Given the description of an element on the screen output the (x, y) to click on. 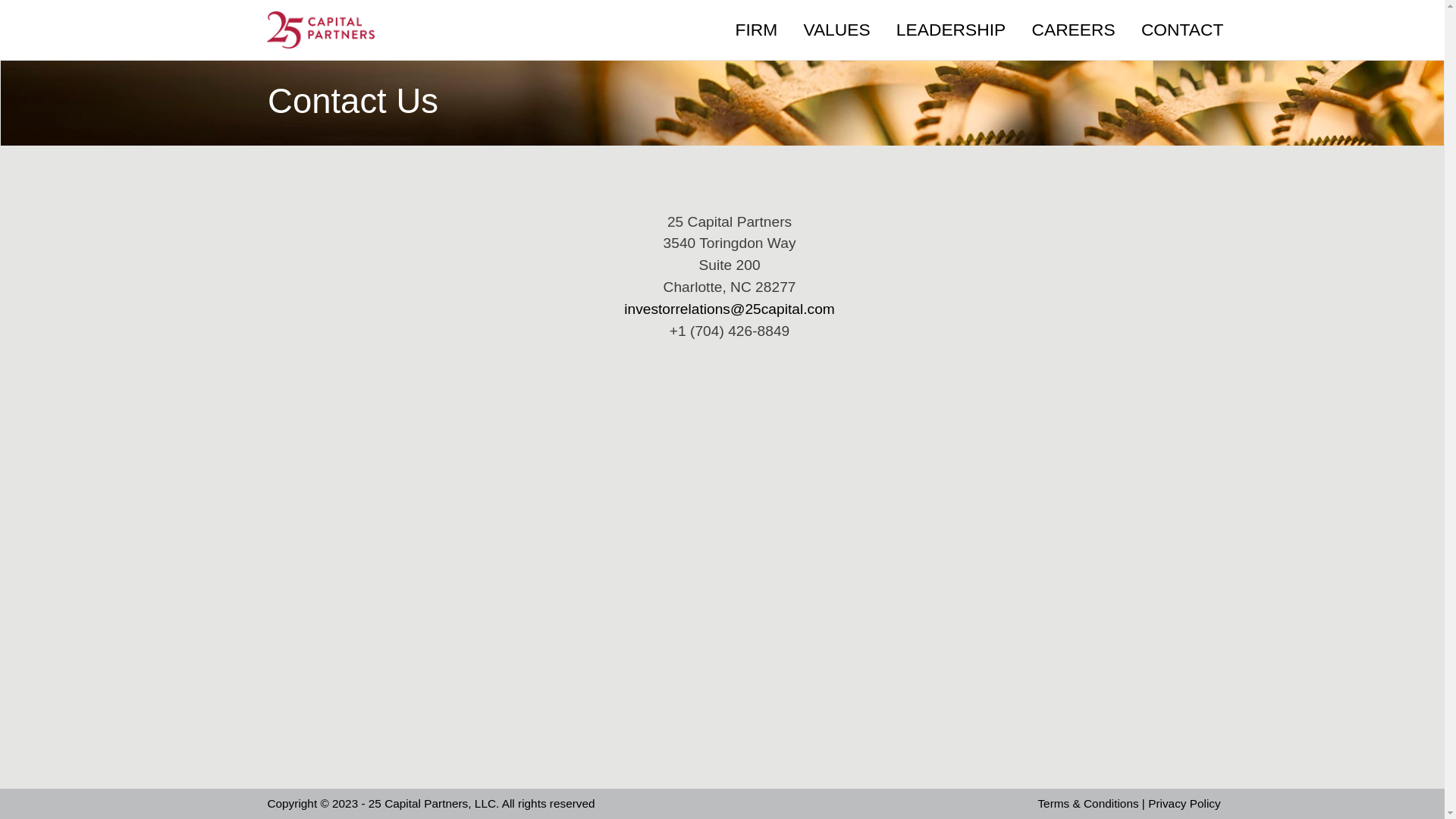
CONTACT Element type: text (1182, 30)
VALUES Element type: text (836, 30)
FIRM Element type: text (755, 30)
25Capital Element type: hover (320, 29)
Terms & Conditions | Element type: text (1092, 803)
Privacy Policy Element type: text (1184, 803)
LEADERSHIP Element type: text (951, 30)
investorrelations@25capital.com Element type: text (729, 308)
CAREERS Element type: text (1072, 30)
